Given the description of an element on the screen output the (x, y) to click on. 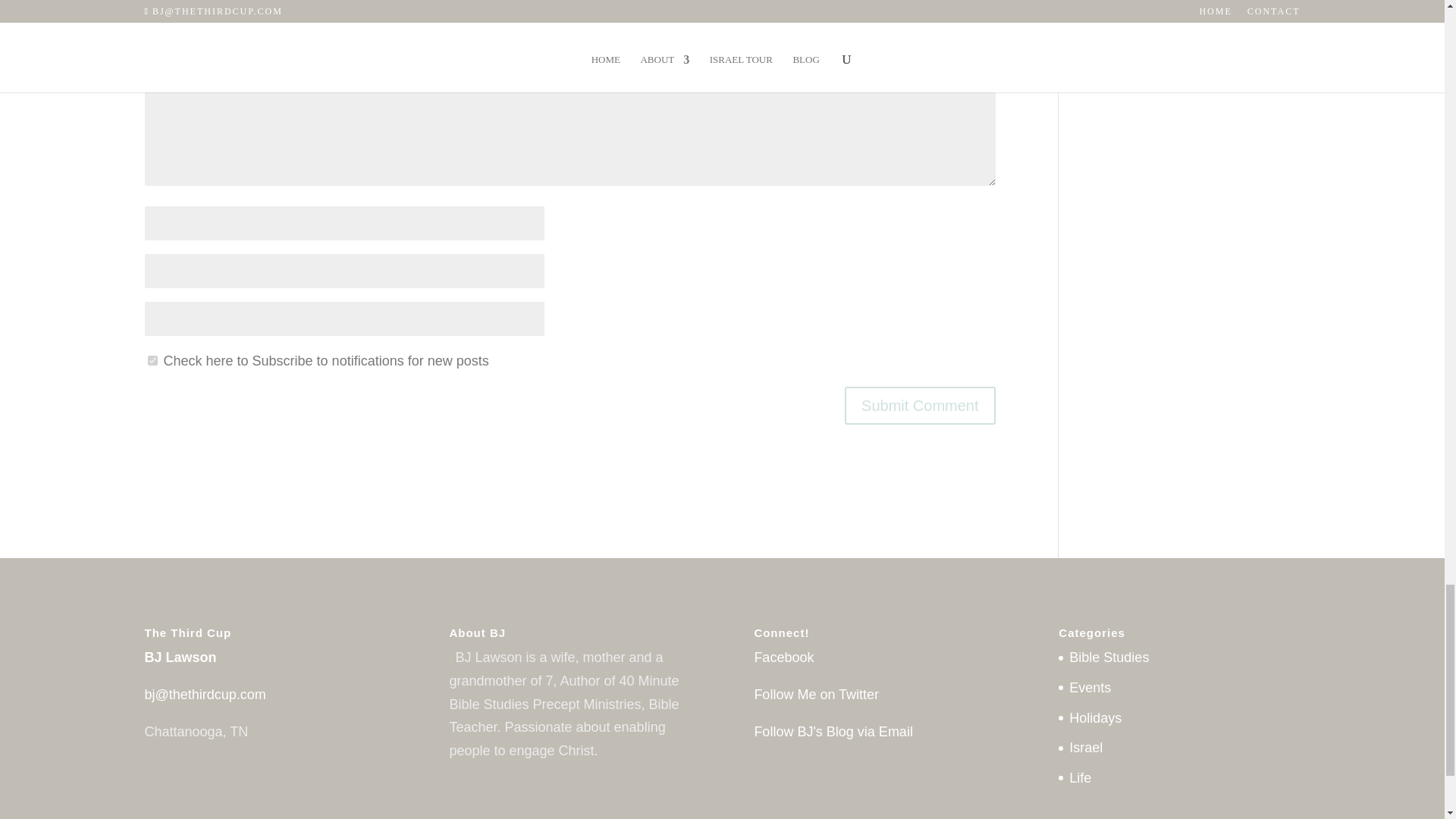
Follow Me on Twitter (816, 694)
Follow BJ's Blog via Email (833, 731)
1 (152, 360)
Follow me on Facebook (783, 657)
Submit Comment (919, 405)
Submit Comment (919, 405)
BJ Lawson (179, 657)
